Given the description of an element on the screen output the (x, y) to click on. 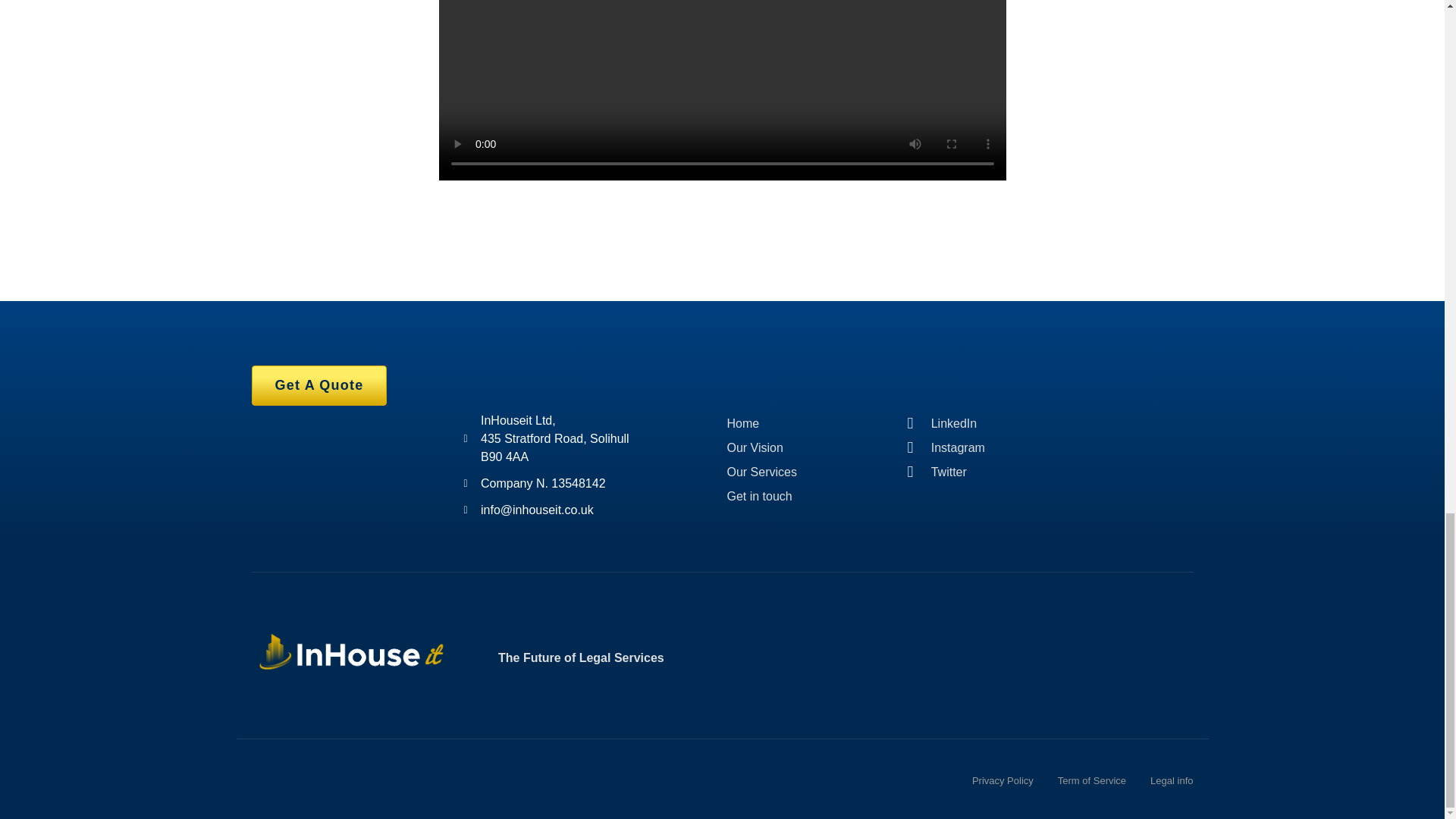
Instagram (975, 447)
Get A Quote (319, 385)
Legal info (1171, 780)
Get in touch (793, 496)
Privacy Policy (1002, 780)
Our Services (793, 472)
LinkedIn (975, 423)
Our Vision (793, 447)
Twitter (975, 472)
Term of Service (1091, 780)
Home (793, 423)
